Given the description of an element on the screen output the (x, y) to click on. 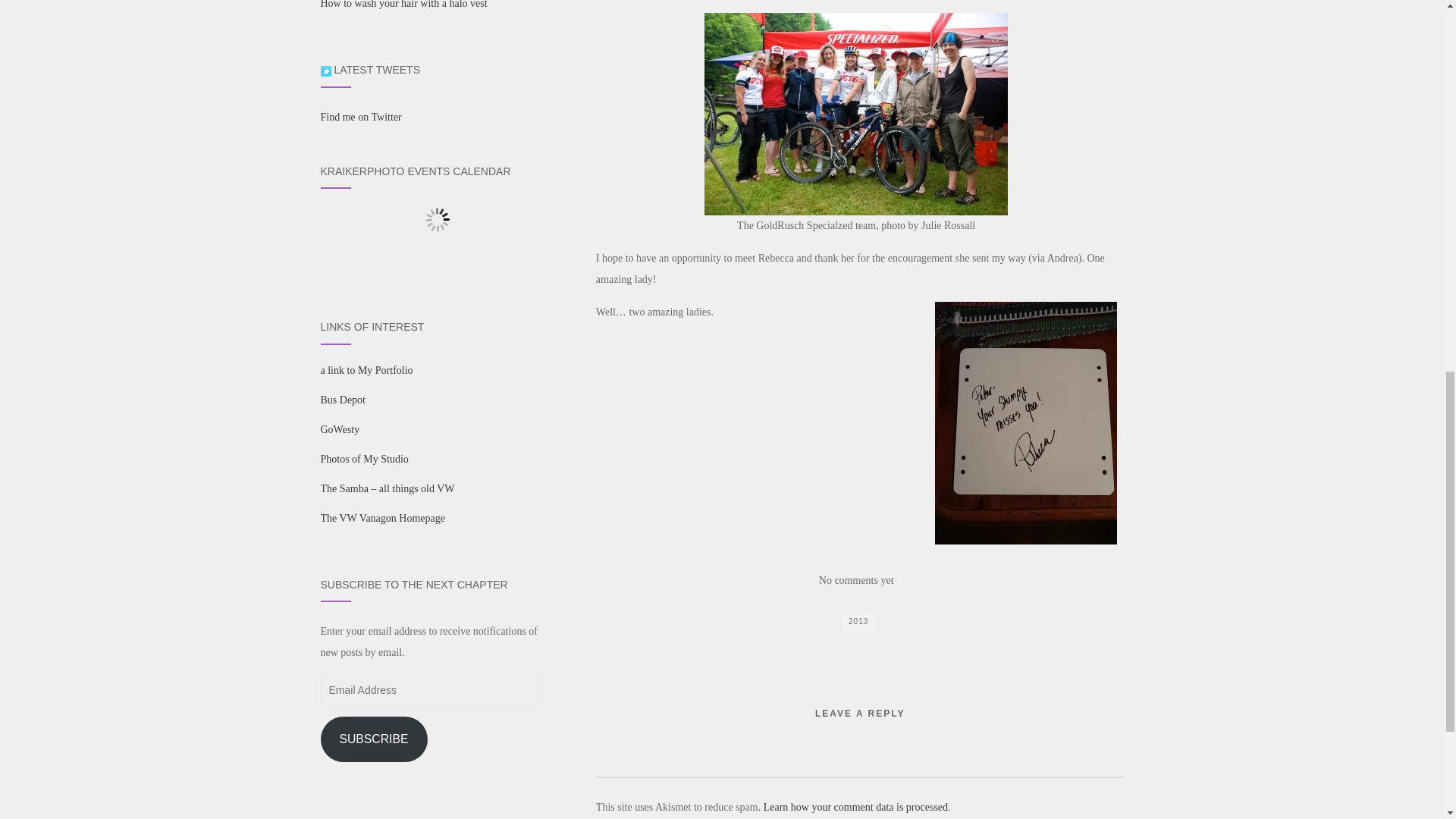
2013 (859, 621)
A great online resource about VW Vanagons (382, 518)
No comments yet (855, 580)
A few of my photographs (366, 369)
My Westy (363, 459)
Learn how your comment data is processed (854, 807)
Need a part? Have a question? Head to the Samba (387, 488)
A great VW parts supplier in Eastern U.S. (342, 399)
Latest Tweets (325, 71)
